Given the description of an element on the screen output the (x, y) to click on. 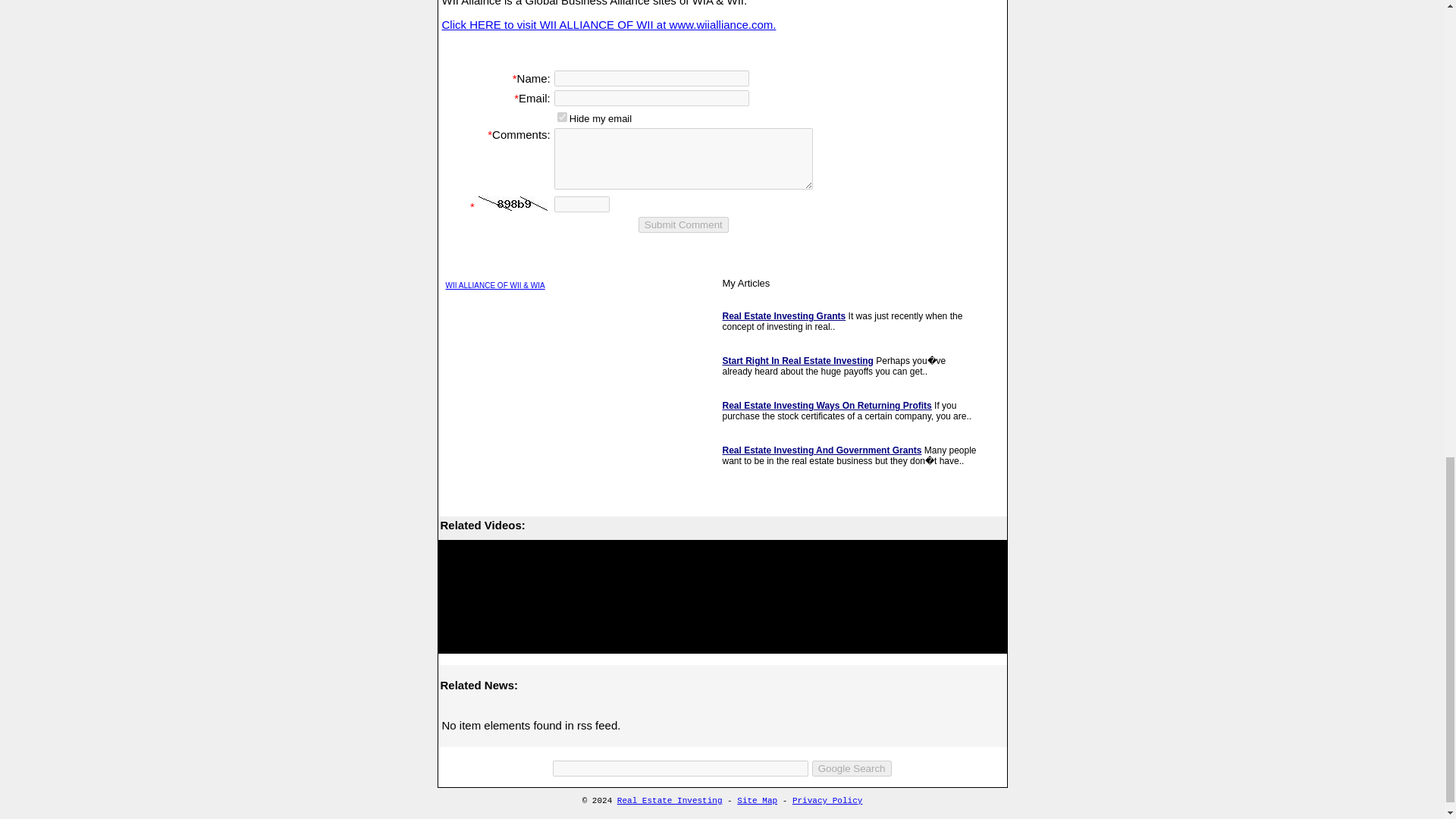
Submit Comment (684, 224)
Google Search (851, 768)
Site Map (756, 800)
Submit Comment (684, 224)
Start Right In Real Estate Investing (797, 360)
Real Estate Investing Grants (783, 316)
on (562, 117)
Real Estate Investing (669, 800)
Real Estate Investing And Government Grants (821, 450)
